Given the description of an element on the screen output the (x, y) to click on. 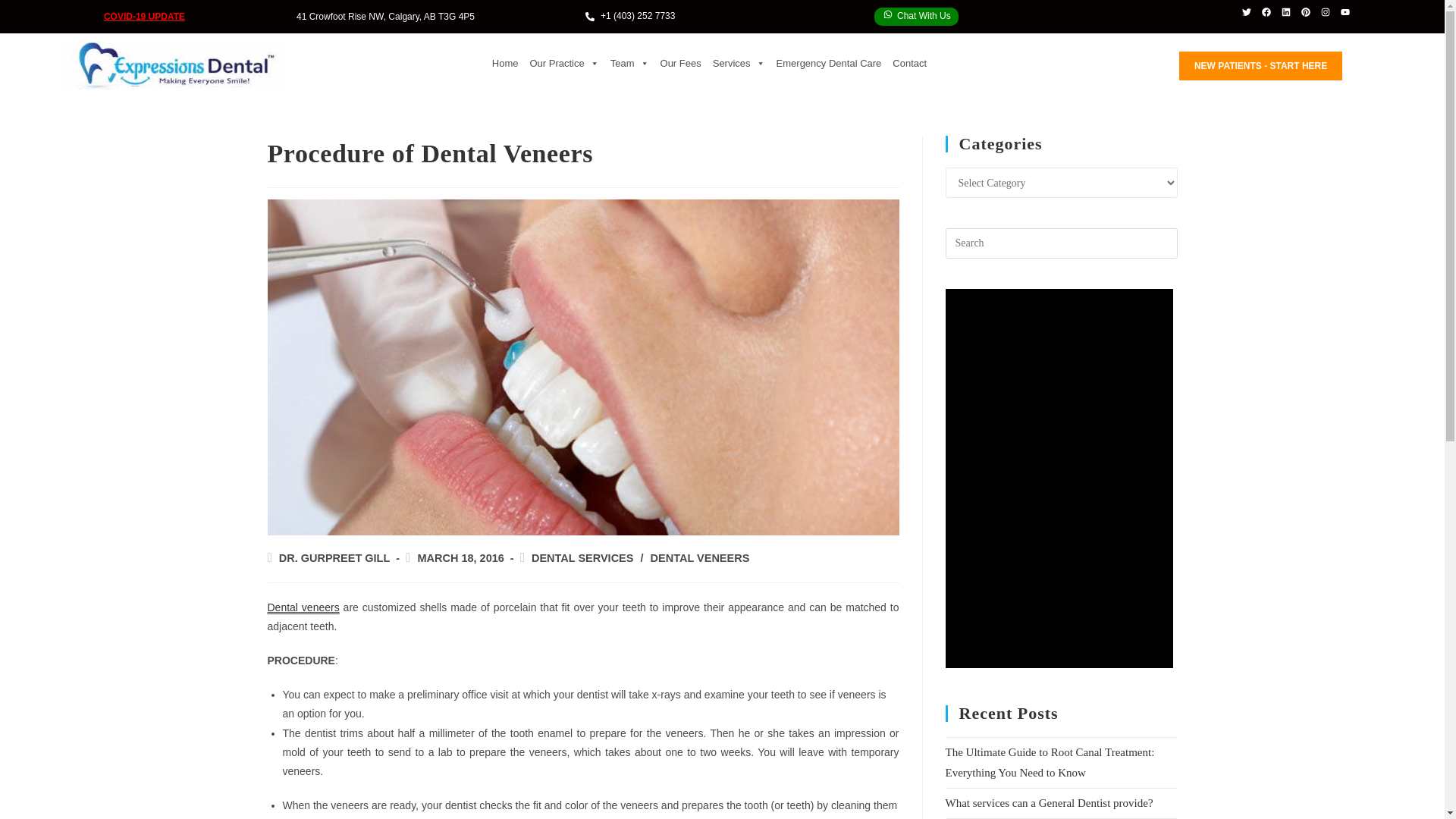
Home (505, 63)
COVID-19 UPDATE (143, 16)
Our Fees (681, 63)
Our Practice (563, 63)
Posts by Dr. Gurpreet Gill (334, 558)
Chat With Us (916, 16)
Team (629, 63)
Services (739, 63)
